Given the description of an element on the screen output the (x, y) to click on. 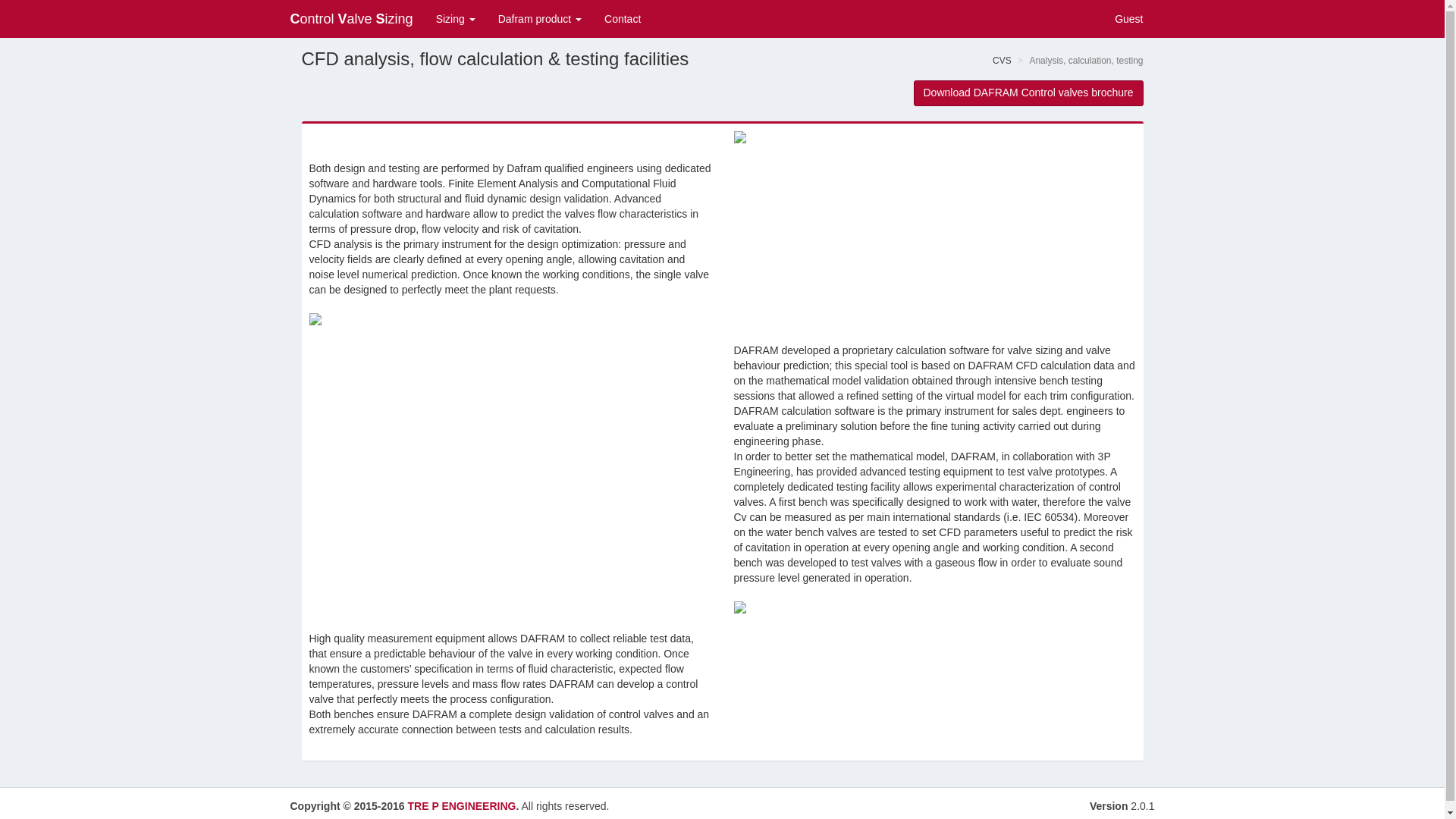
Dafram product (539, 18)
TRE P ENGINEERING (461, 806)
Guest (1126, 18)
Contact (622, 18)
Control Valve Sizing (352, 18)
CVS (1001, 60)
Sizing (455, 18)
Download DAFRAM Control valves brochure (1027, 93)
